Given the description of an element on the screen output the (x, y) to click on. 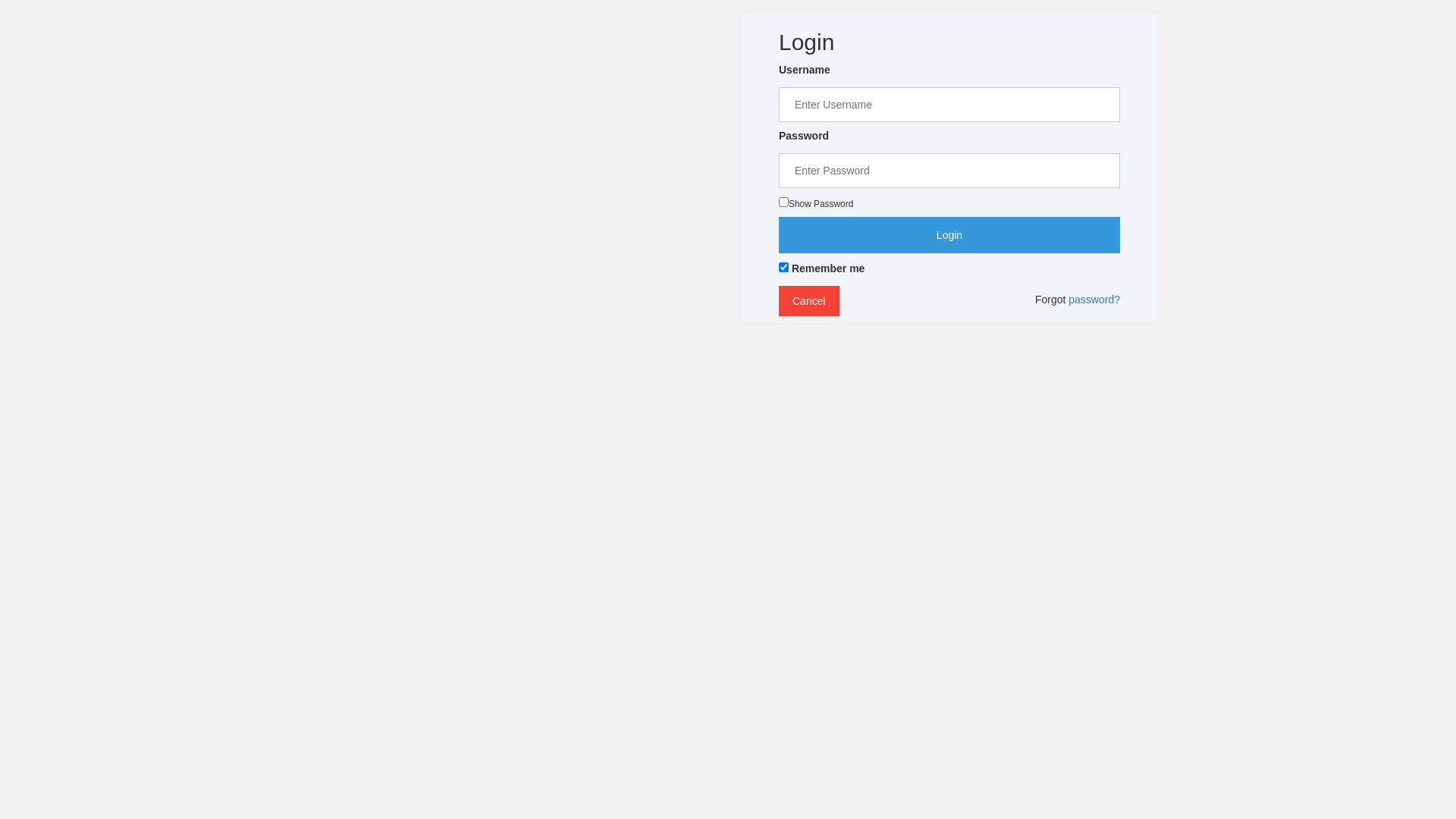
Cancel Element type: text (808, 300)
on Element type: text (783, 202)
Login Element type: text (949, 234)
password? Element type: text (1094, 299)
